Given the description of an element on the screen output the (x, y) to click on. 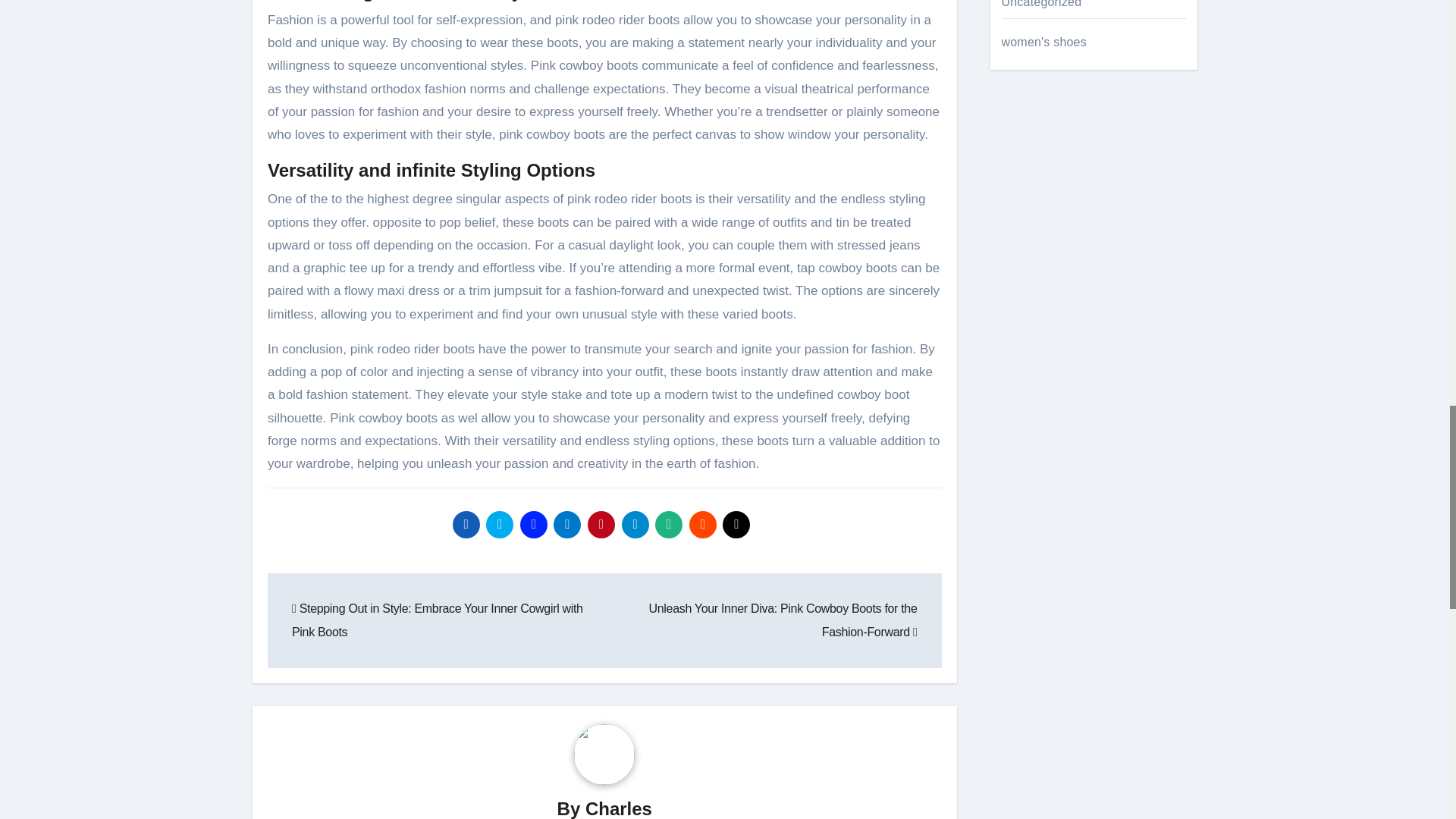
Charles (618, 808)
